Given the description of an element on the screen output the (x, y) to click on. 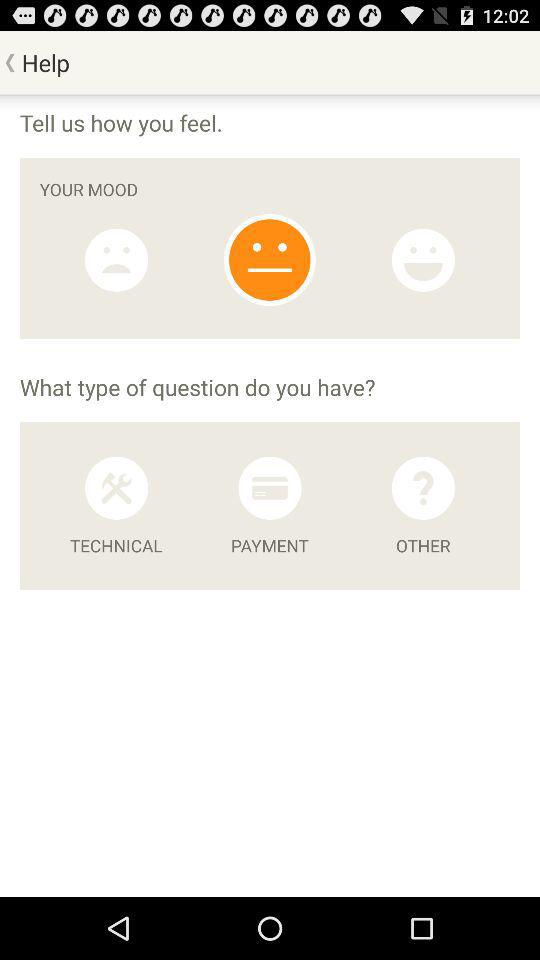
technical tools (116, 488)
